Given the description of an element on the screen output the (x, y) to click on. 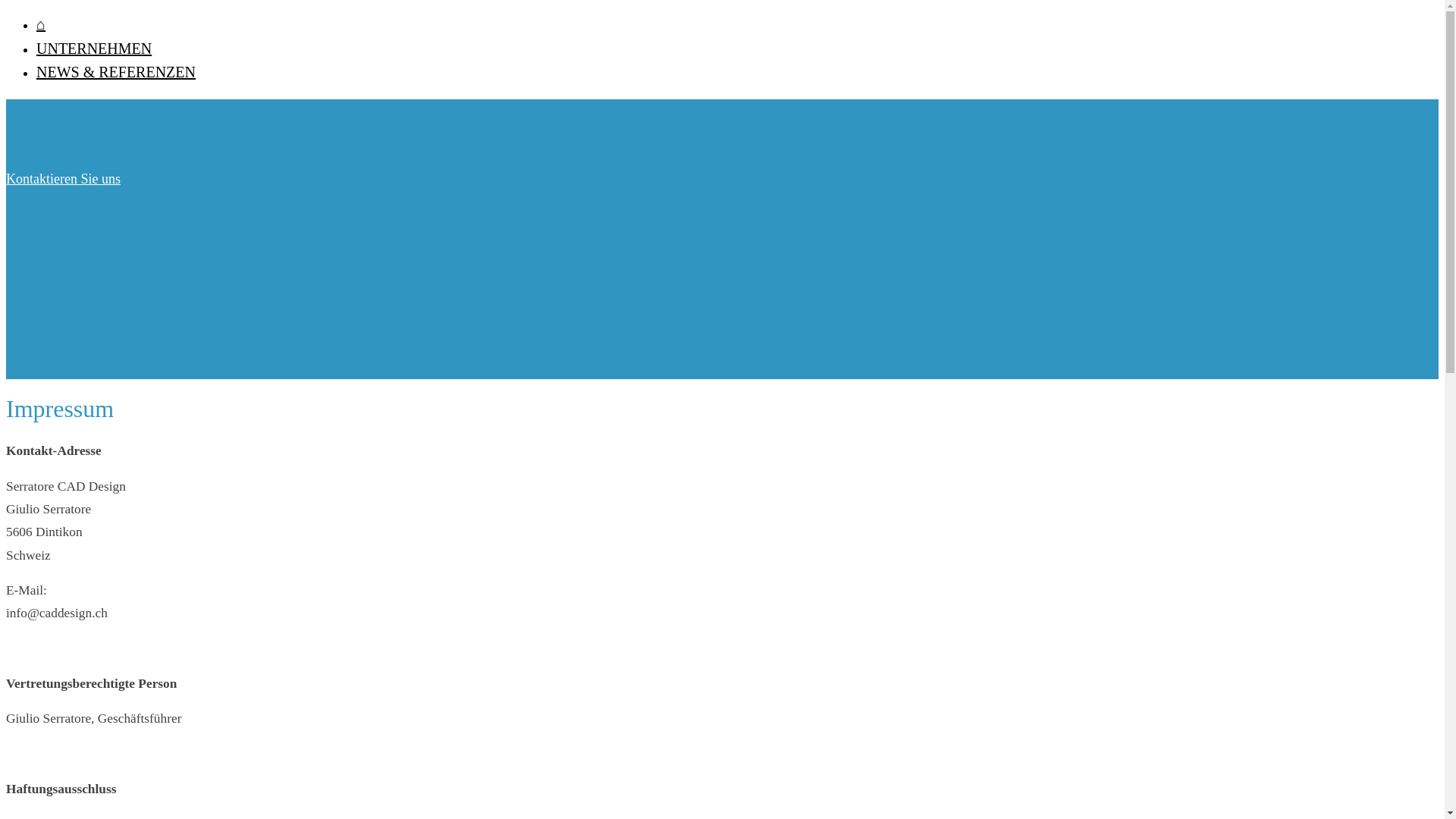
UNTERNEHMEN Element type: text (93, 47)
Kontaktieren Sie uns Element type: text (63, 178)
NEWS & REFERENZEN Element type: text (115, 71)
